Given the description of an element on the screen output the (x, y) to click on. 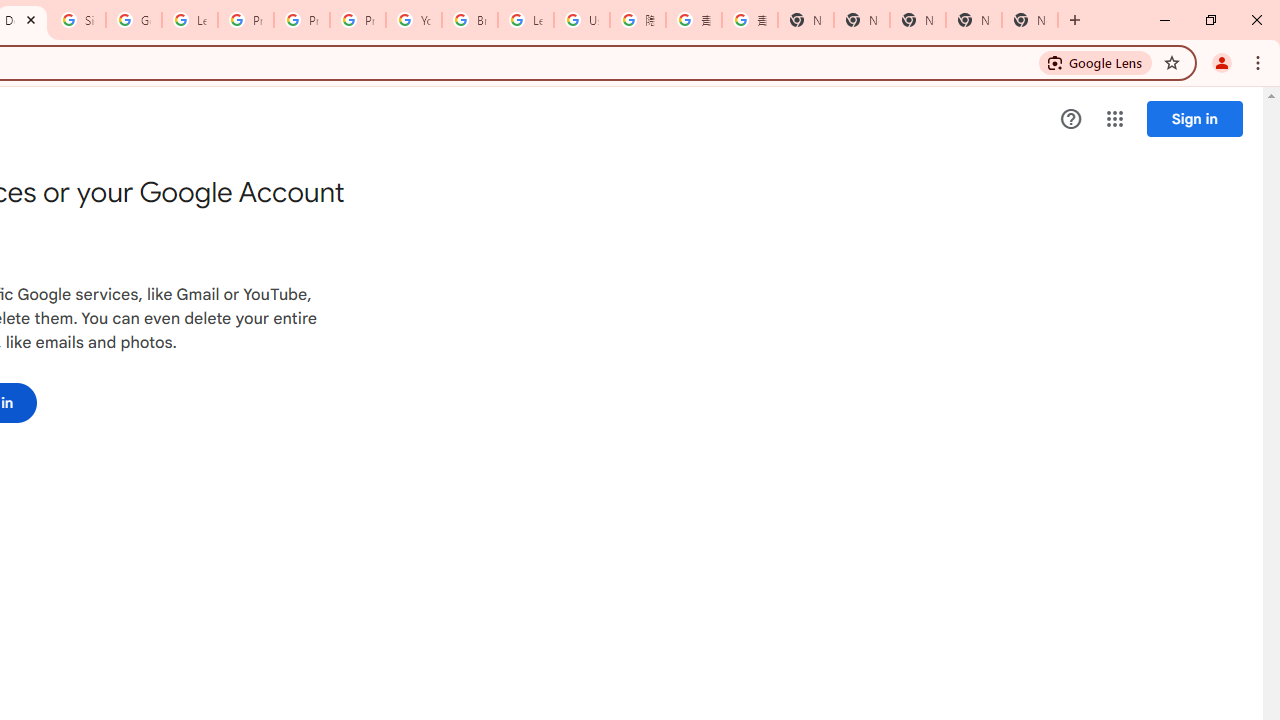
Privacy Help Center - Policies Help (301, 20)
Sign in - Google Accounts (77, 20)
New Tab (1030, 20)
